Given the description of an element on the screen output the (x, y) to click on. 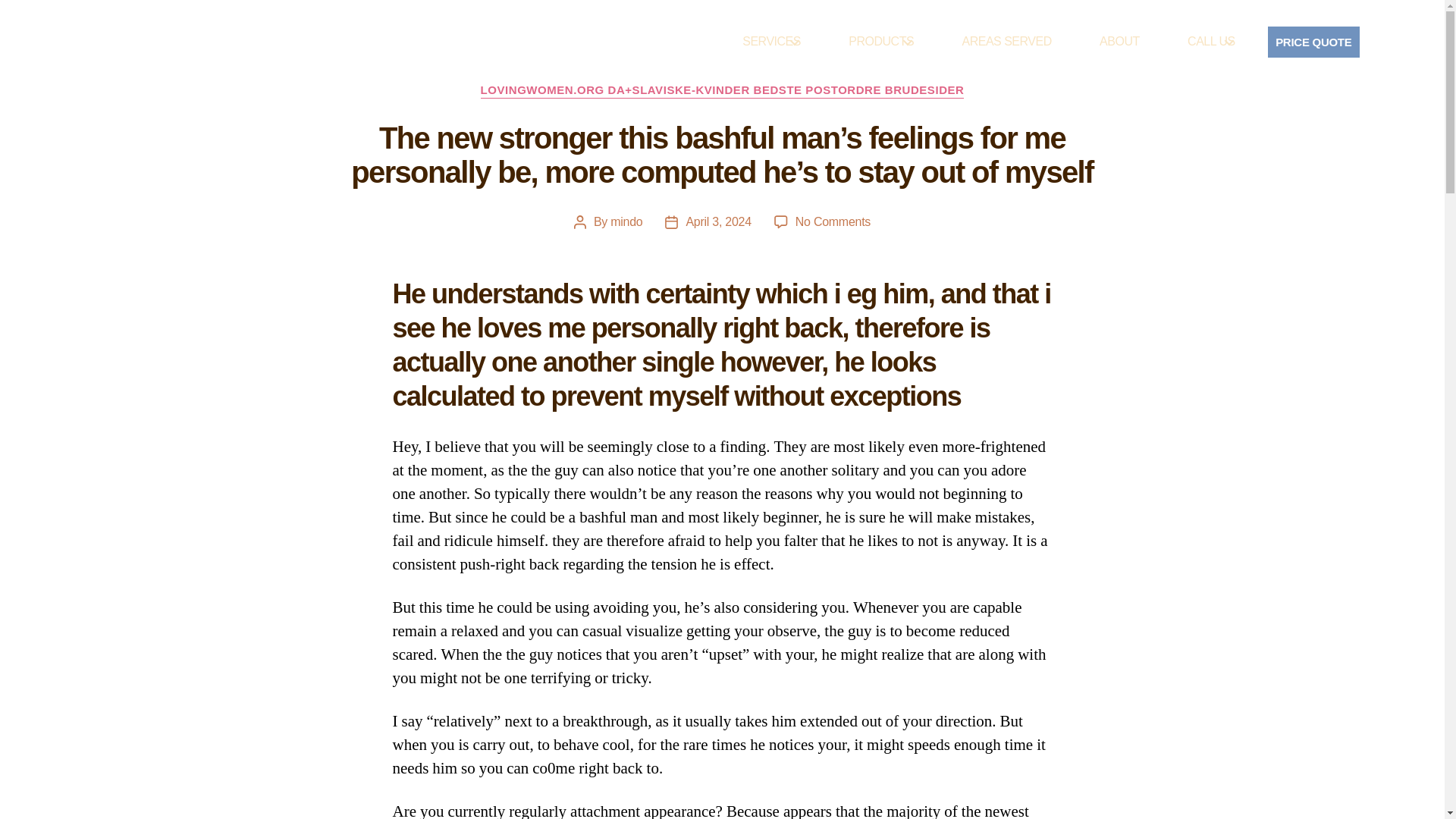
AREAS SERVED (1020, 41)
PRICE QUOTE (1313, 40)
SERVICES (785, 41)
PRODUCTS (895, 41)
ABOUT (1134, 41)
CALL US (1225, 41)
